Given the description of an element on the screen output the (x, y) to click on. 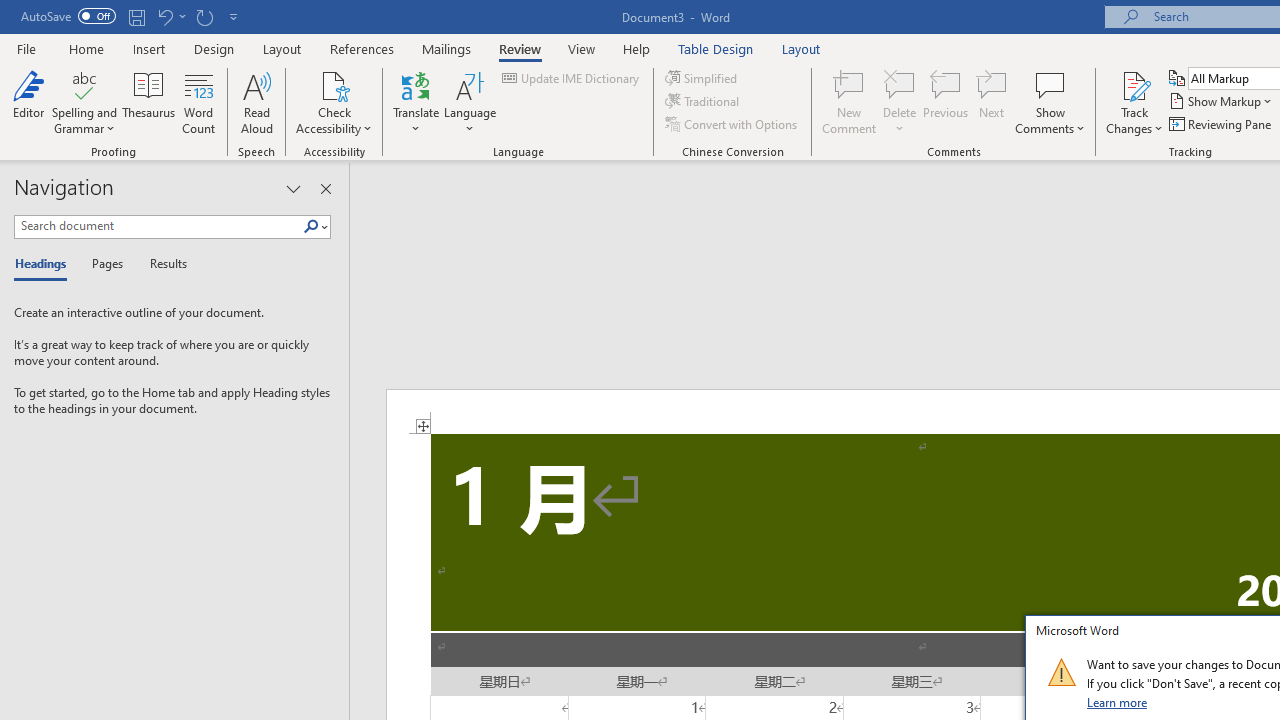
Undo Increase Indent (164, 15)
New Comment (849, 102)
Results (161, 264)
Spelling and Grammar (84, 102)
Delete (900, 102)
Show Markup (1222, 101)
Language (470, 102)
Track Changes (1134, 102)
Show Comments (1050, 102)
